Given the description of an element on the screen output the (x, y) to click on. 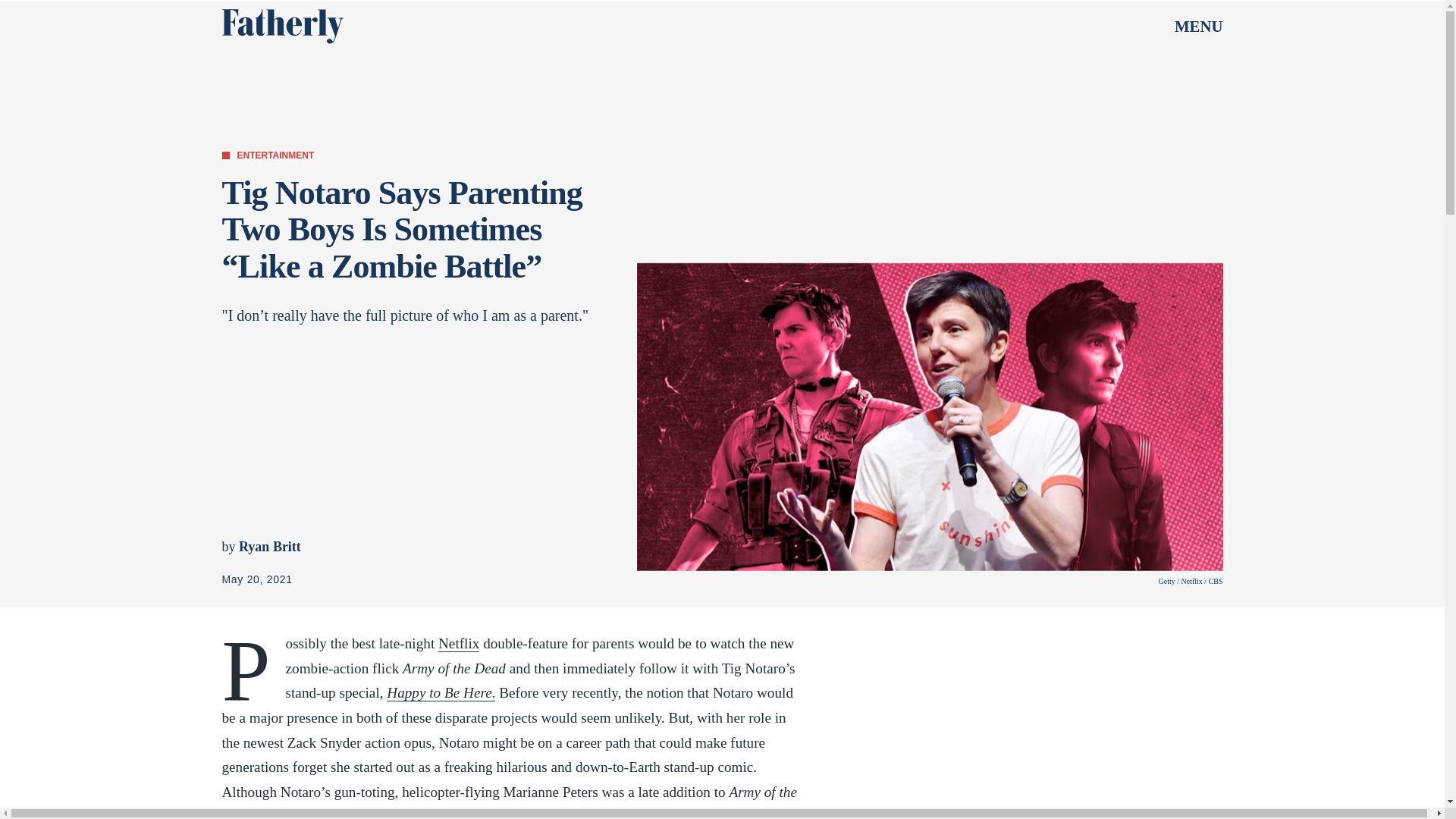
Ryan Britt (269, 546)
Fatherly (281, 26)
Happy to Be Here. (441, 692)
Netflix (458, 643)
